Given the description of an element on the screen output the (x, y) to click on. 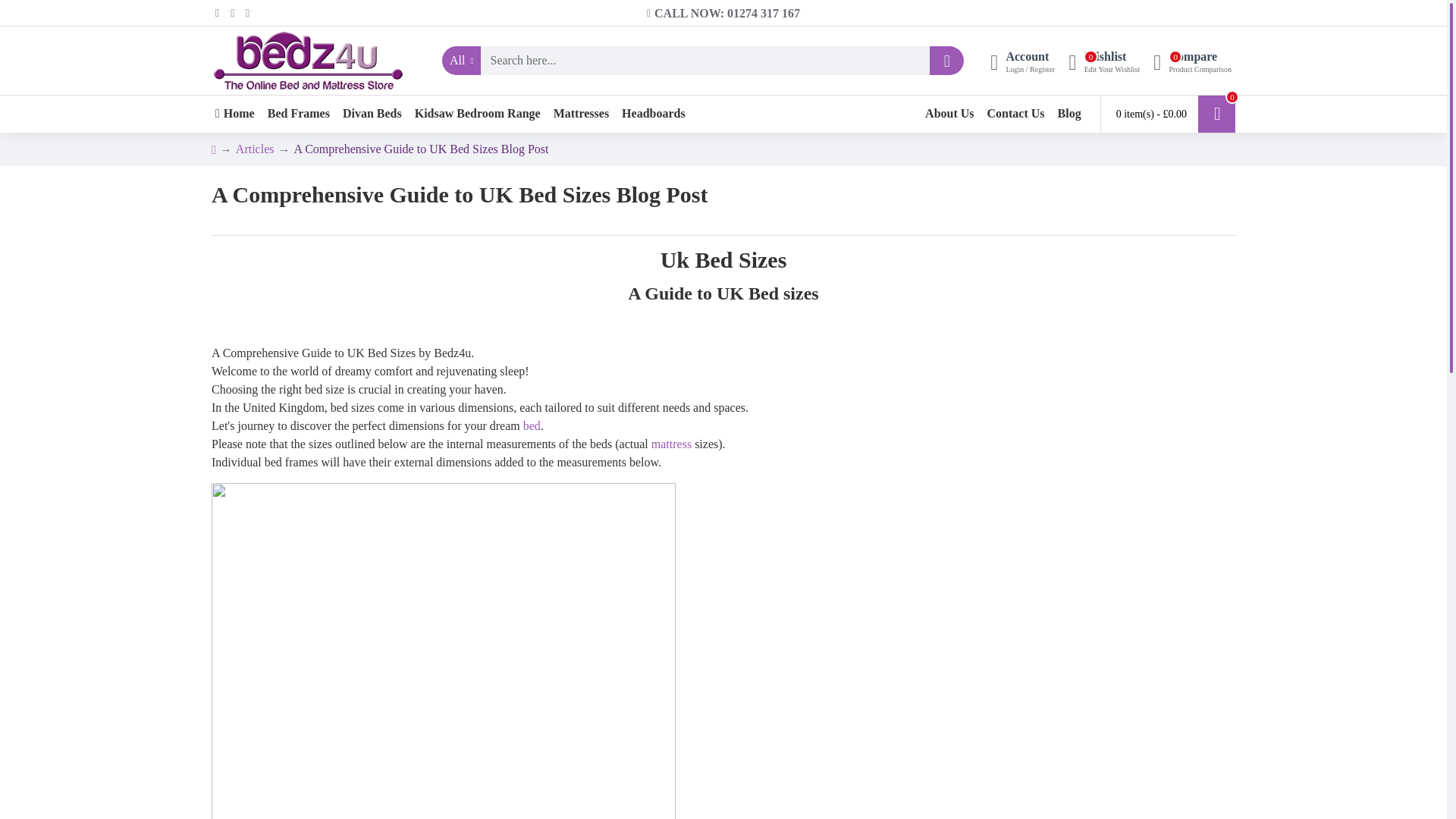
Bed Frames (298, 113)
CALL NOW: 01274 317 167 (1192, 60)
Bedz4u (1103, 60)
Home (723, 13)
